Given the description of an element on the screen output the (x, y) to click on. 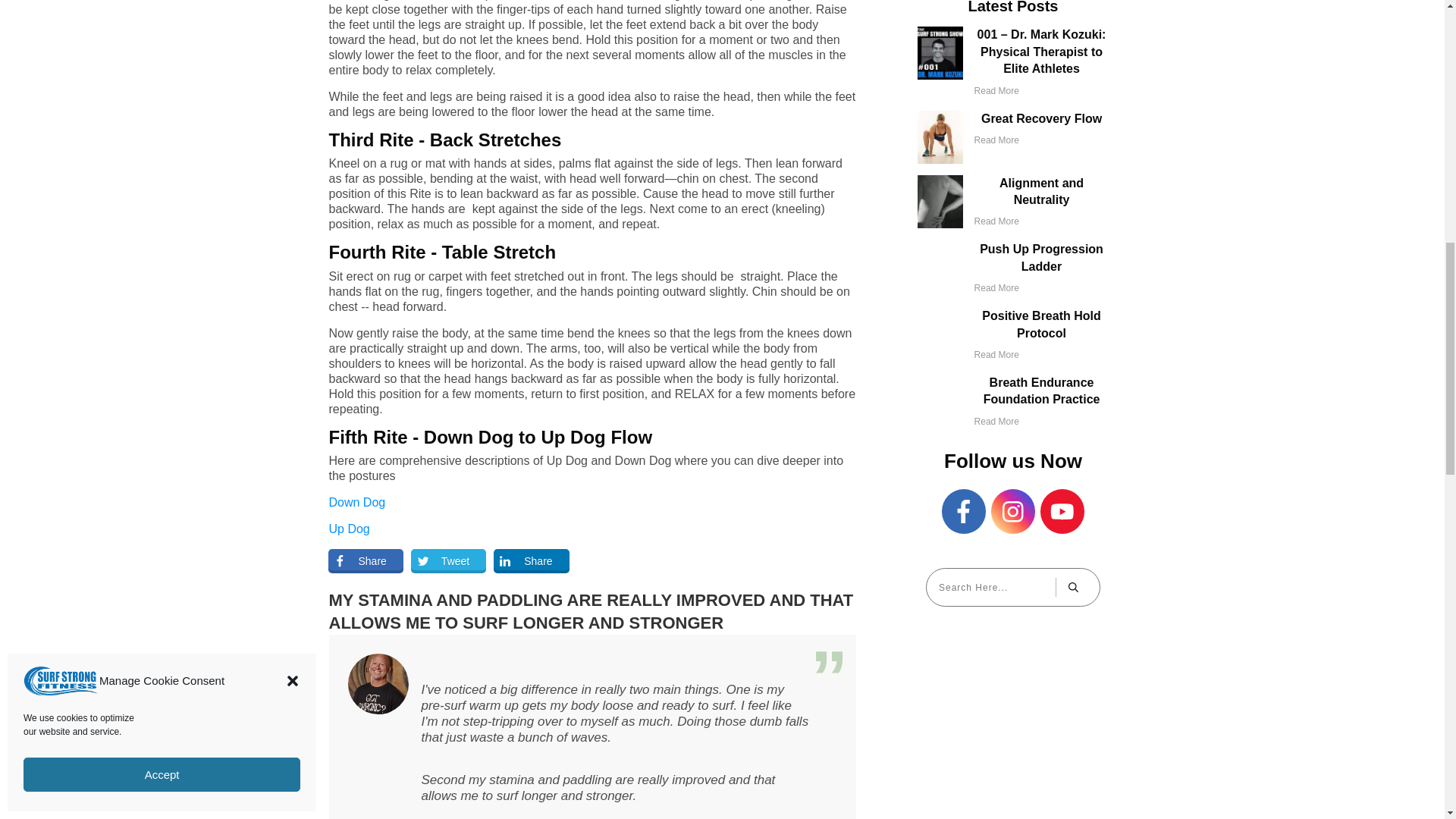
Alignment and Neutrality (1040, 191)
Positive Breath Hold Protocol (1040, 324)
Push Up Progression Ladder (1041, 256)
Share (531, 560)
Share (365, 560)
Push Up Progression Ladder (1041, 256)
Great Recovery Flow (1041, 118)
Alignment and Neutrality (1040, 191)
Up Dog (349, 528)
Read More (996, 221)
